Given the description of an element on the screen output the (x, y) to click on. 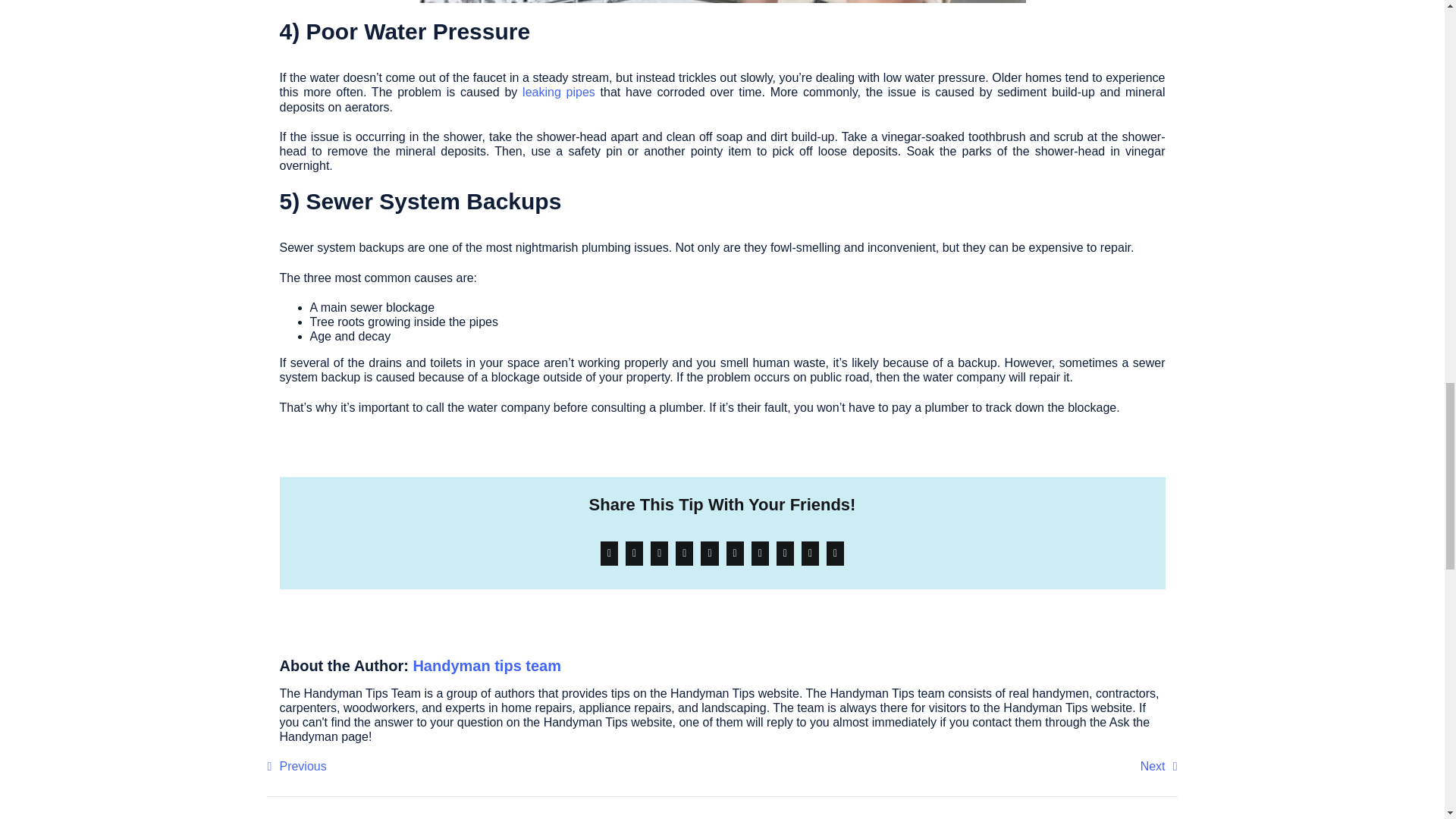
leaking pipes (558, 91)
Handyman tips team (486, 665)
Next (1158, 766)
Previous (296, 766)
